Given the description of an element on the screen output the (x, y) to click on. 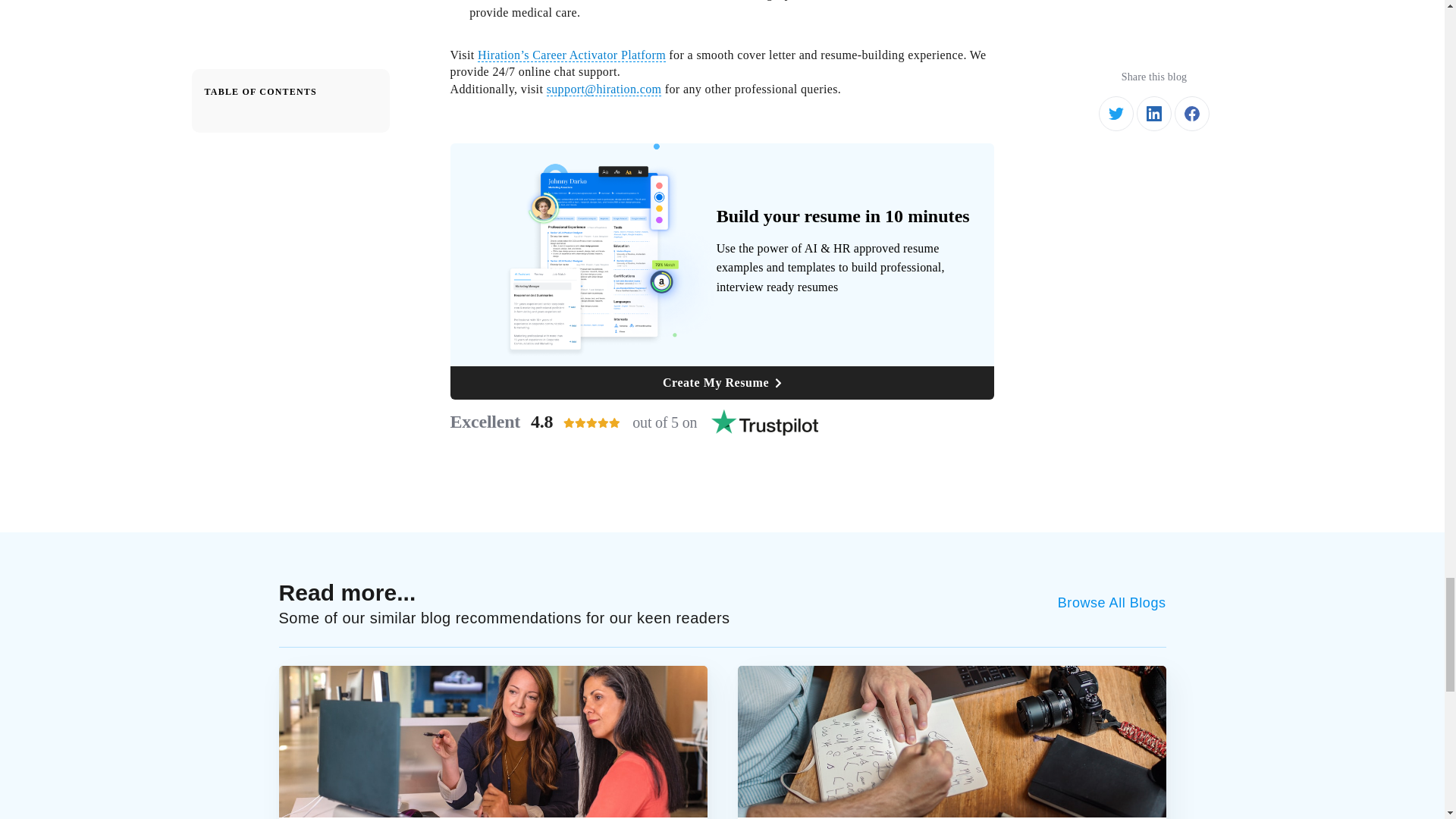
Create My Resume (721, 422)
Browse All Blogs (721, 382)
